Given the description of an element on the screen output the (x, y) to click on. 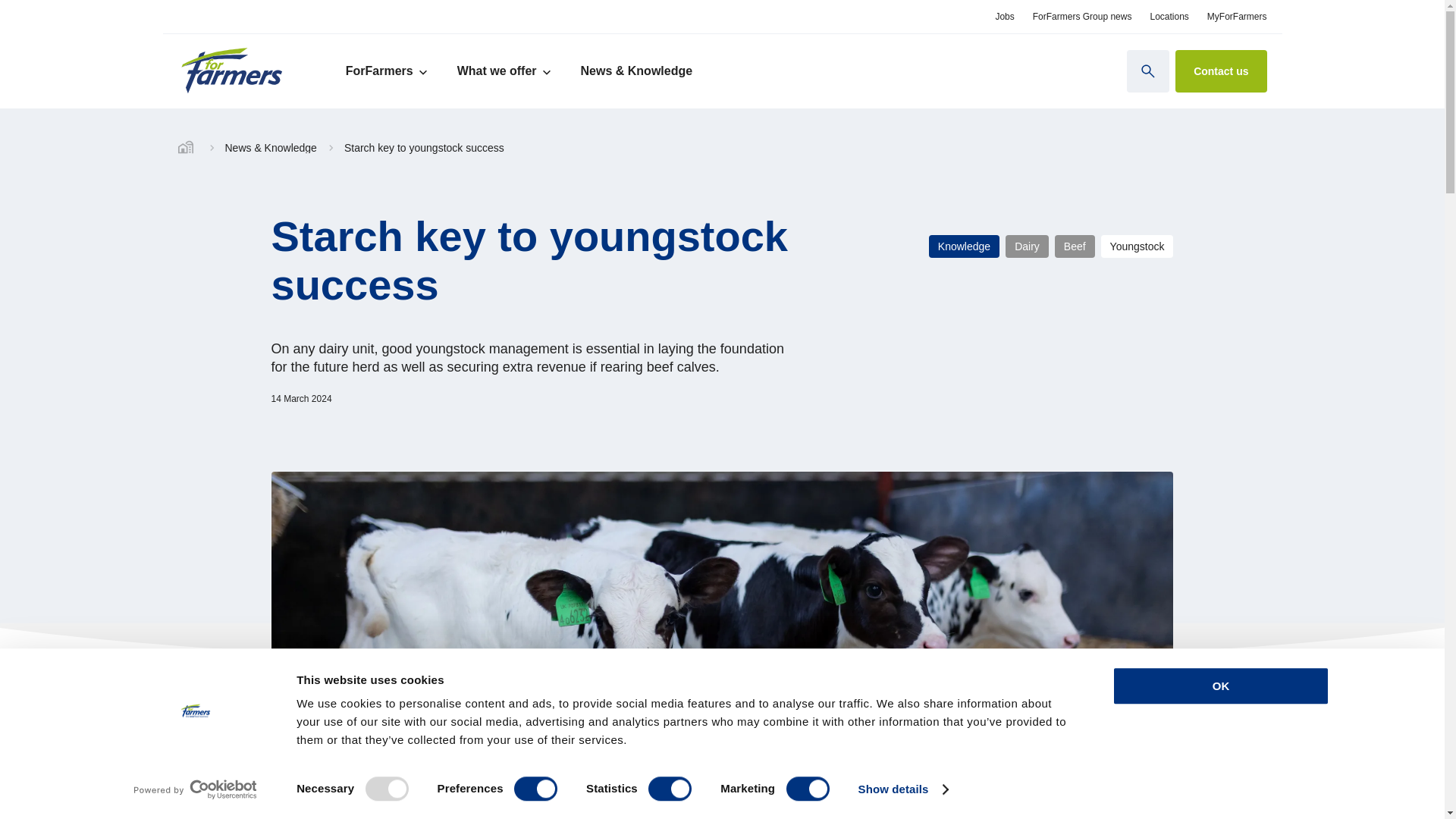
OK (1219, 685)
Show details (902, 789)
